Given the description of an element on the screen output the (x, y) to click on. 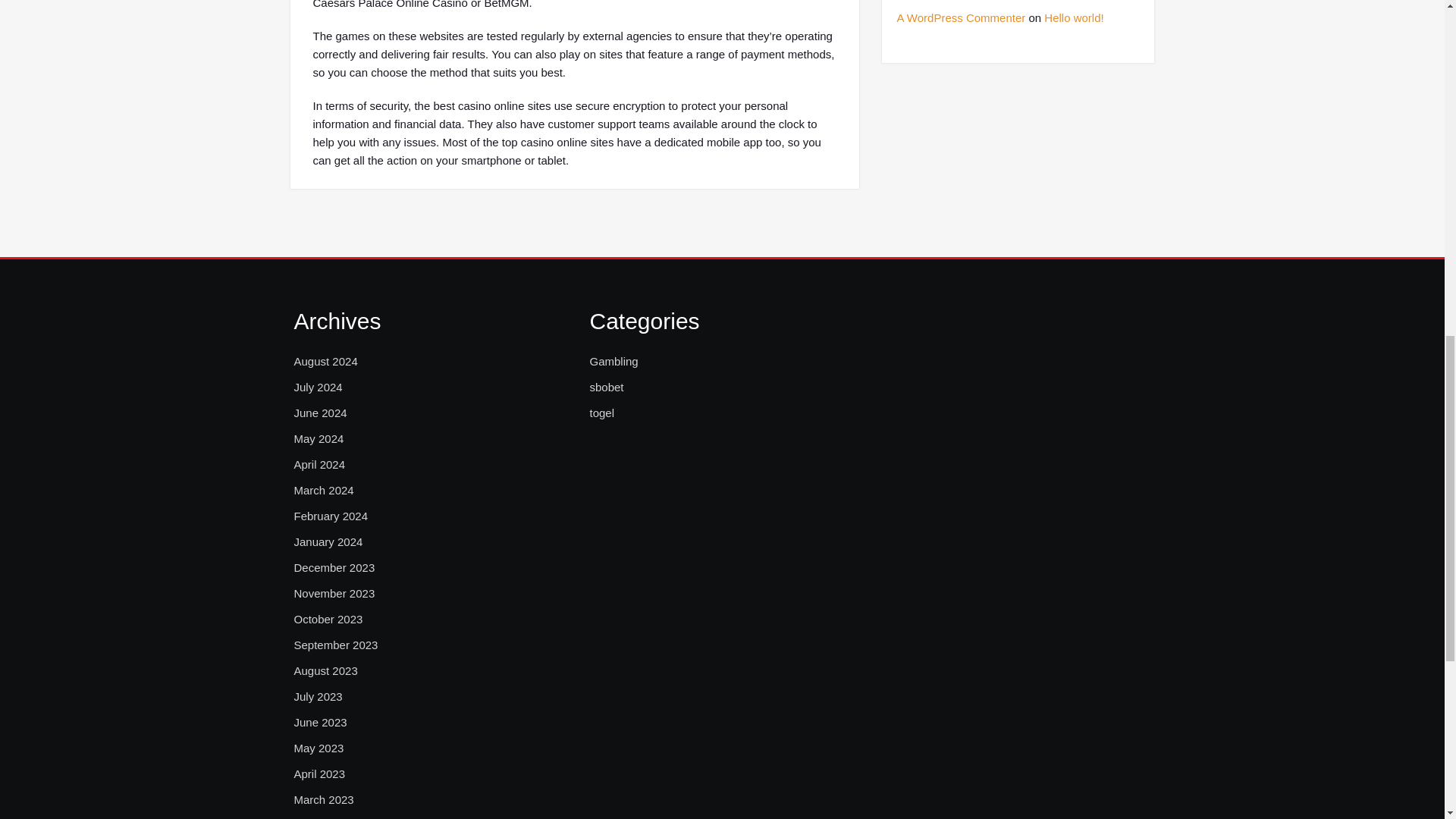
November 2023 (334, 593)
September 2023 (336, 645)
January 2024 (328, 542)
A WordPress Commenter (960, 17)
April 2024 (320, 464)
June 2023 (320, 722)
April 2023 (320, 773)
March 2024 (323, 490)
July 2024 (318, 387)
July 2023 (318, 696)
